Given the description of an element on the screen output the (x, y) to click on. 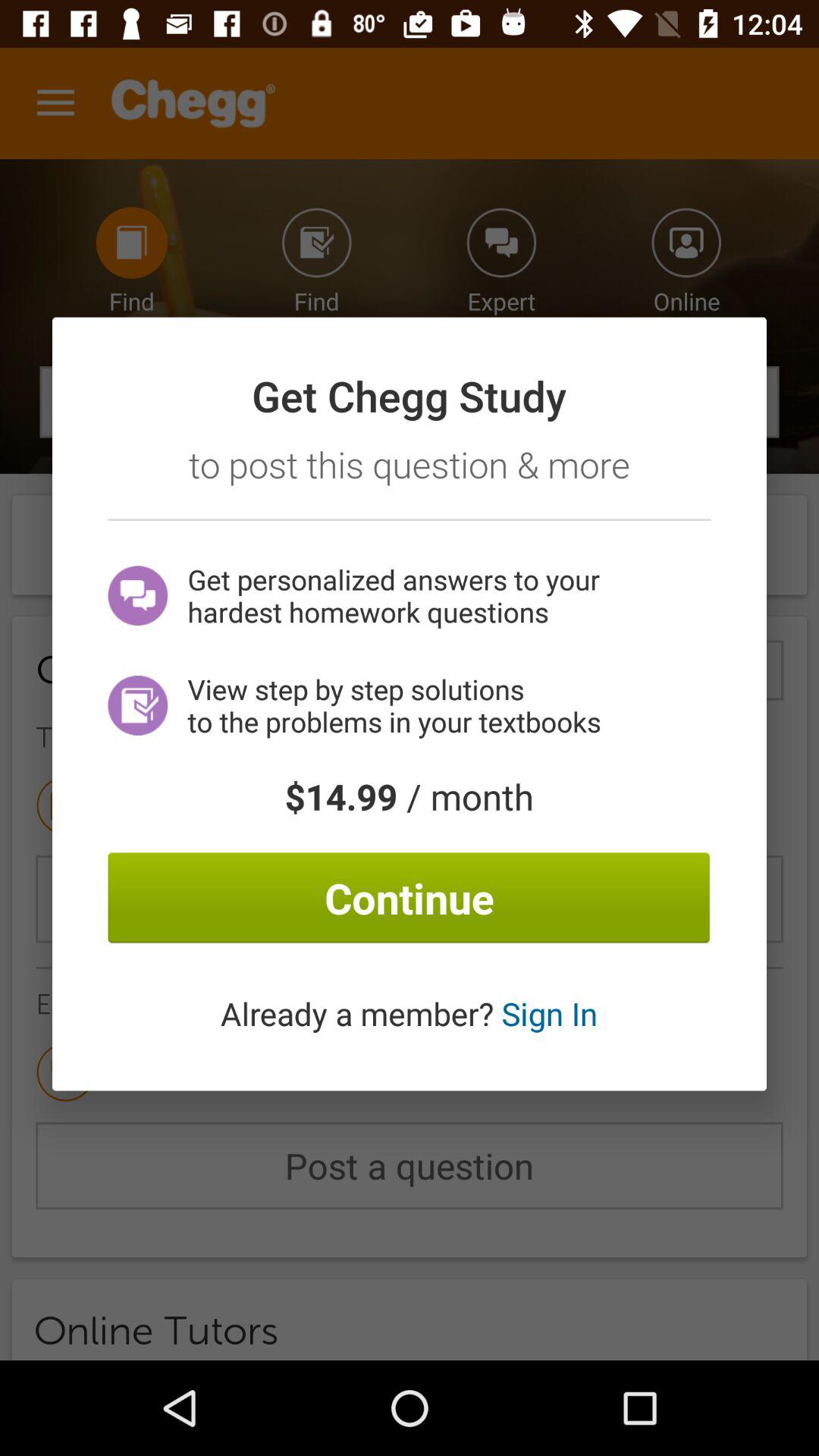
choose the item at the bottom (408, 1013)
